Given the description of an element on the screen output the (x, y) to click on. 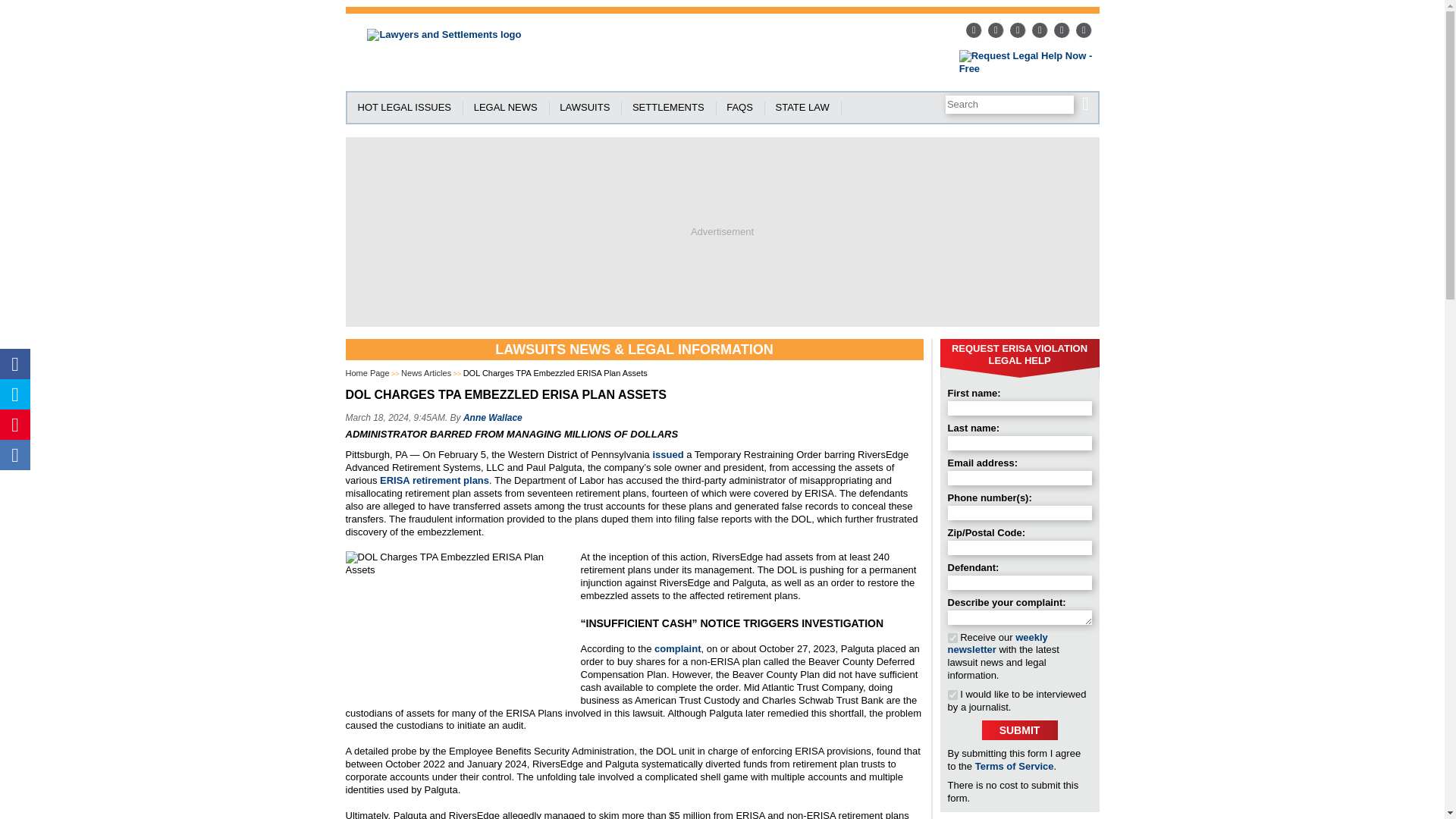
issued (667, 454)
SETTLEMENTS (670, 107)
ERISA retirement plans (434, 480)
LEGAL NEWS (507, 107)
HOT LEGAL ISSUES (407, 107)
Share on Facebook (15, 363)
Home Page (368, 372)
complaint (676, 648)
Anne Wallace (492, 417)
LAWSUITS (586, 107)
News Articles (426, 372)
